Given the description of an element on the screen output the (x, y) to click on. 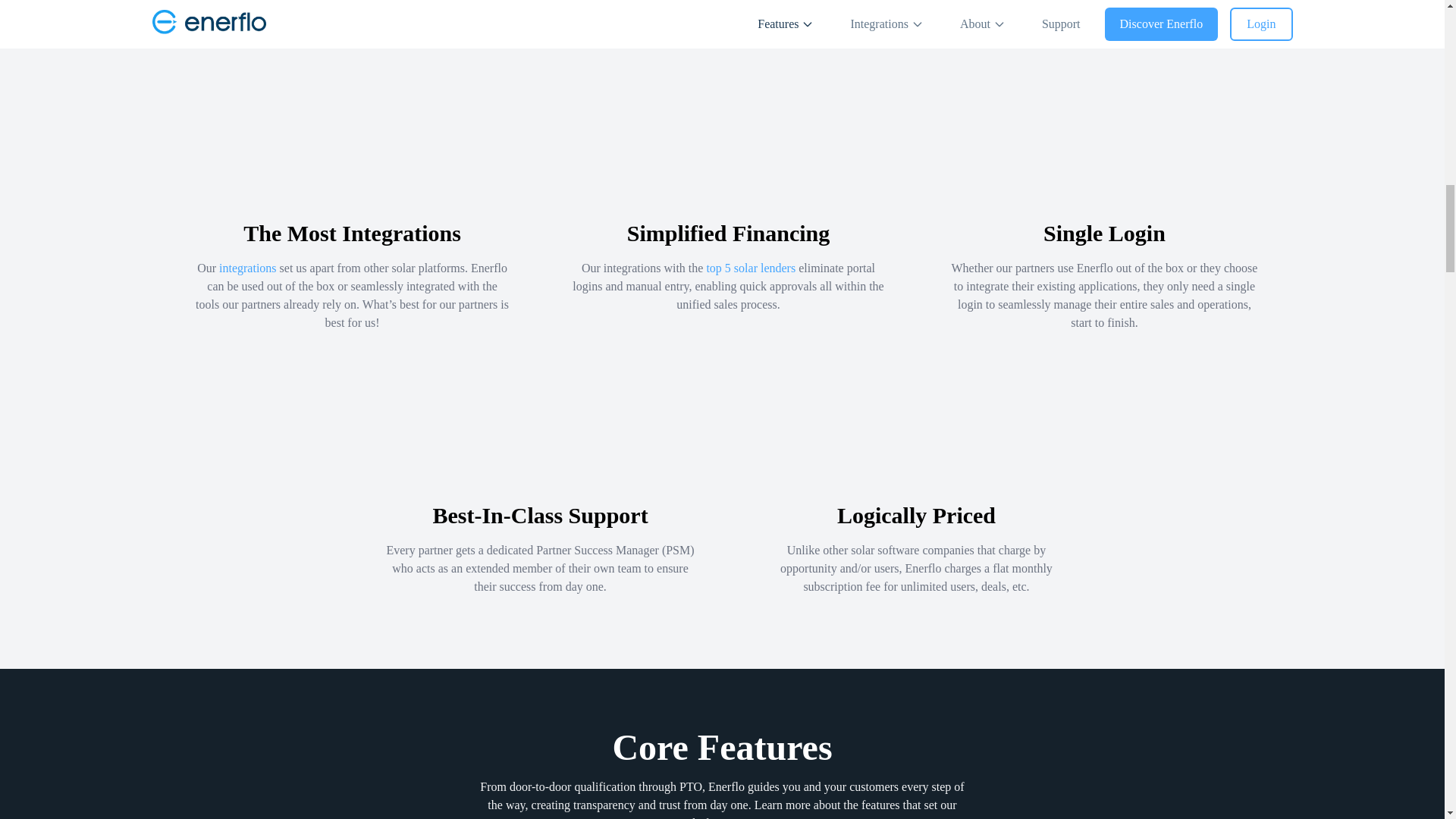
integrations (247, 267)
top 5 solar lenders (750, 267)
